Given the description of an element on the screen output the (x, y) to click on. 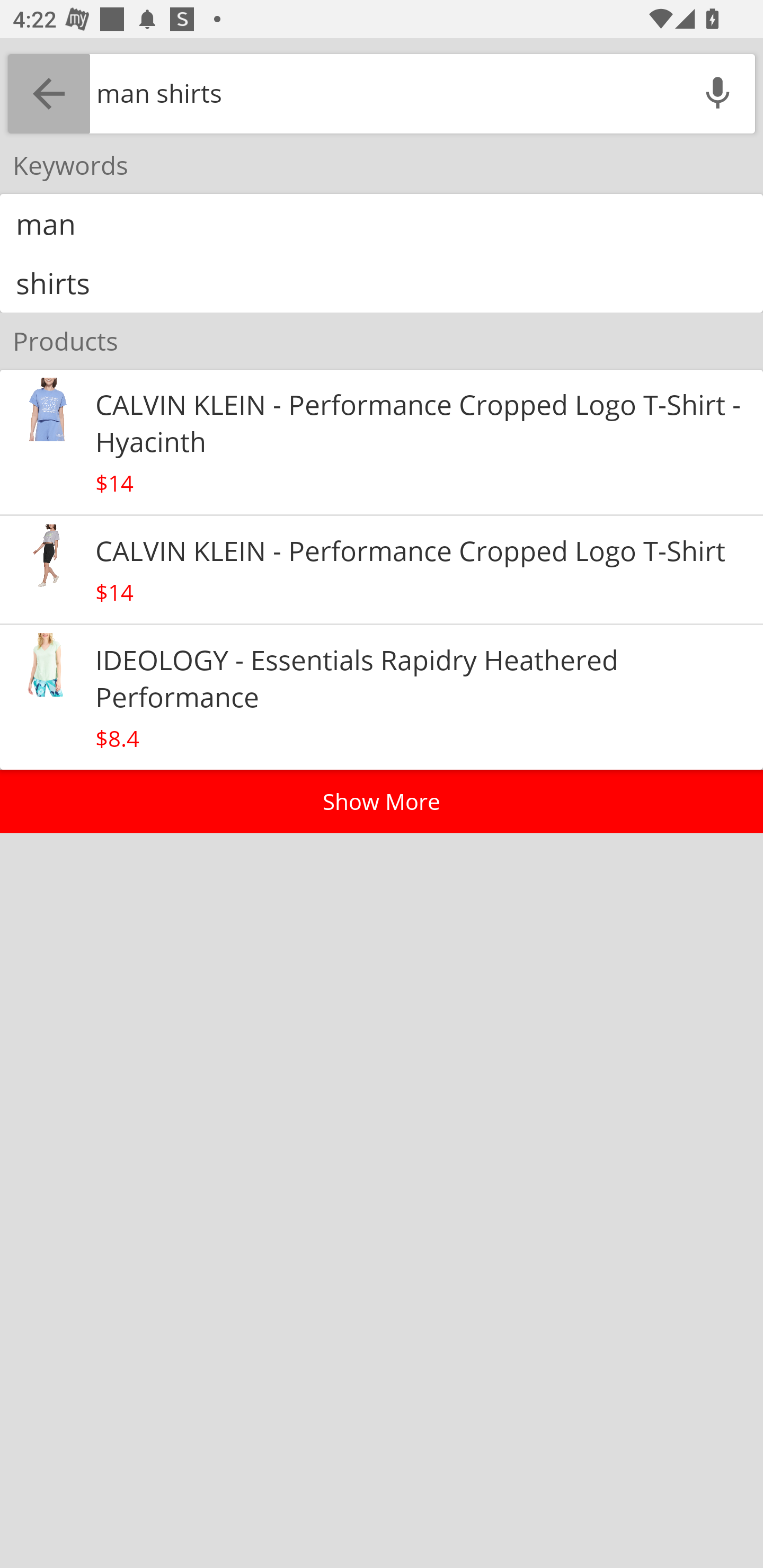
man shirts (385, 93)
man (381, 223)
shirts (381, 282)
Show More (381, 800)
